Given the description of an element on the screen output the (x, y) to click on. 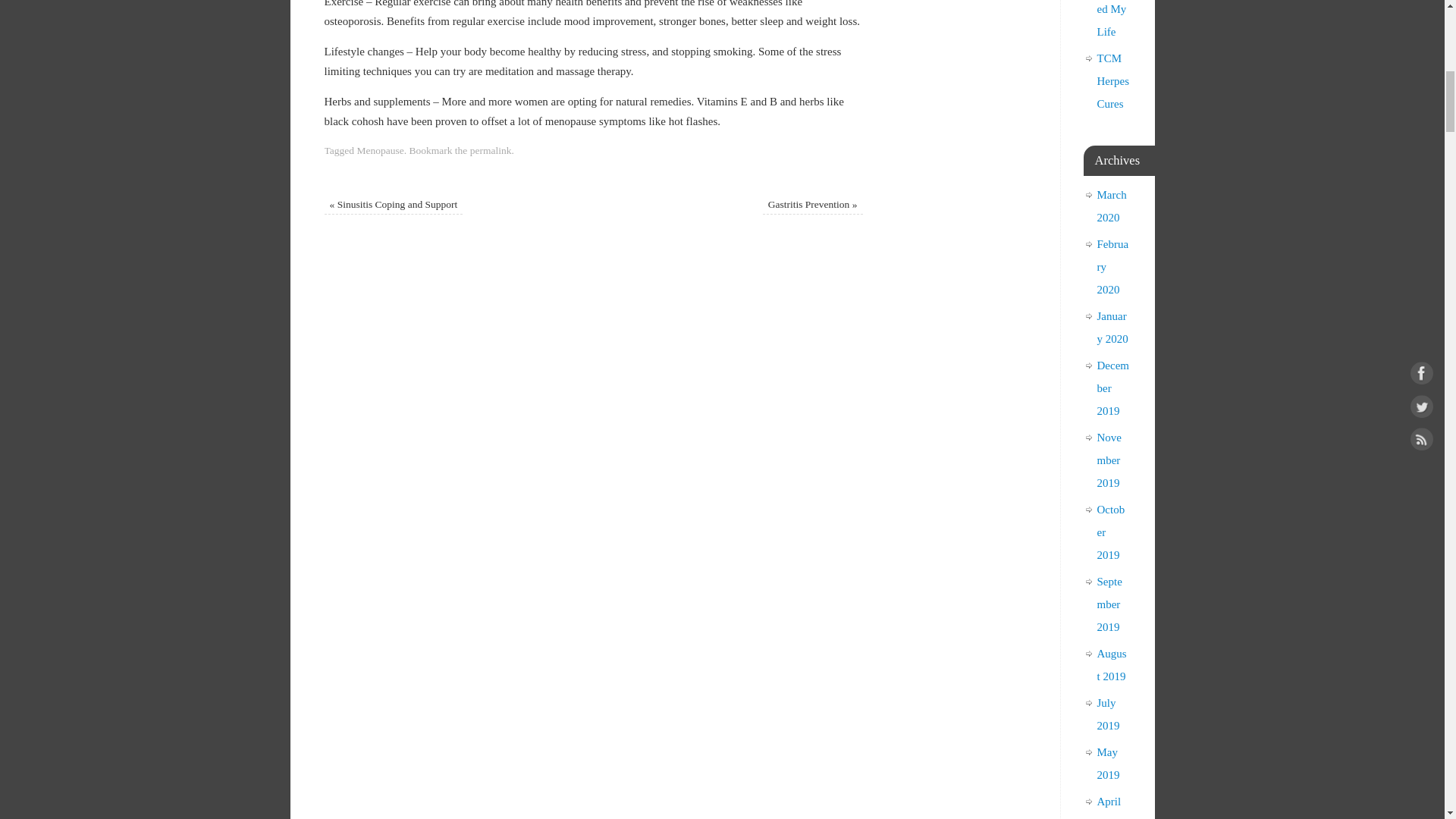
January 2020 (1111, 327)
Menopause (379, 150)
Permalink to Menopause Lifestyles and Home Remedies (491, 150)
permalink (491, 150)
April 2019 (1108, 807)
